Given the description of an element on the screen output the (x, y) to click on. 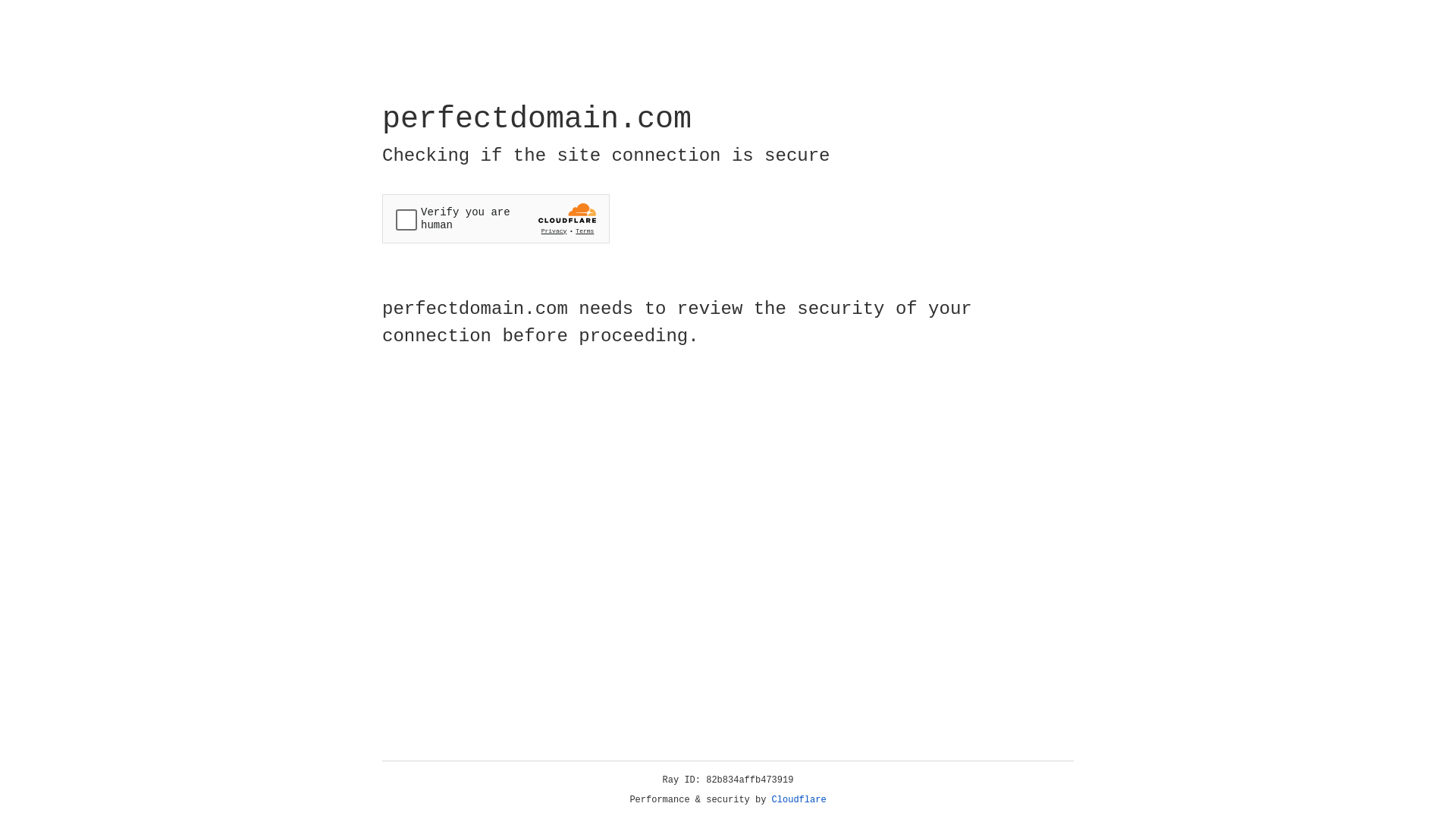
Widget containing a Cloudflare security challenge Element type: hover (495, 218)
Cloudflare Element type: text (798, 799)
